Given the description of an element on the screen output the (x, y) to click on. 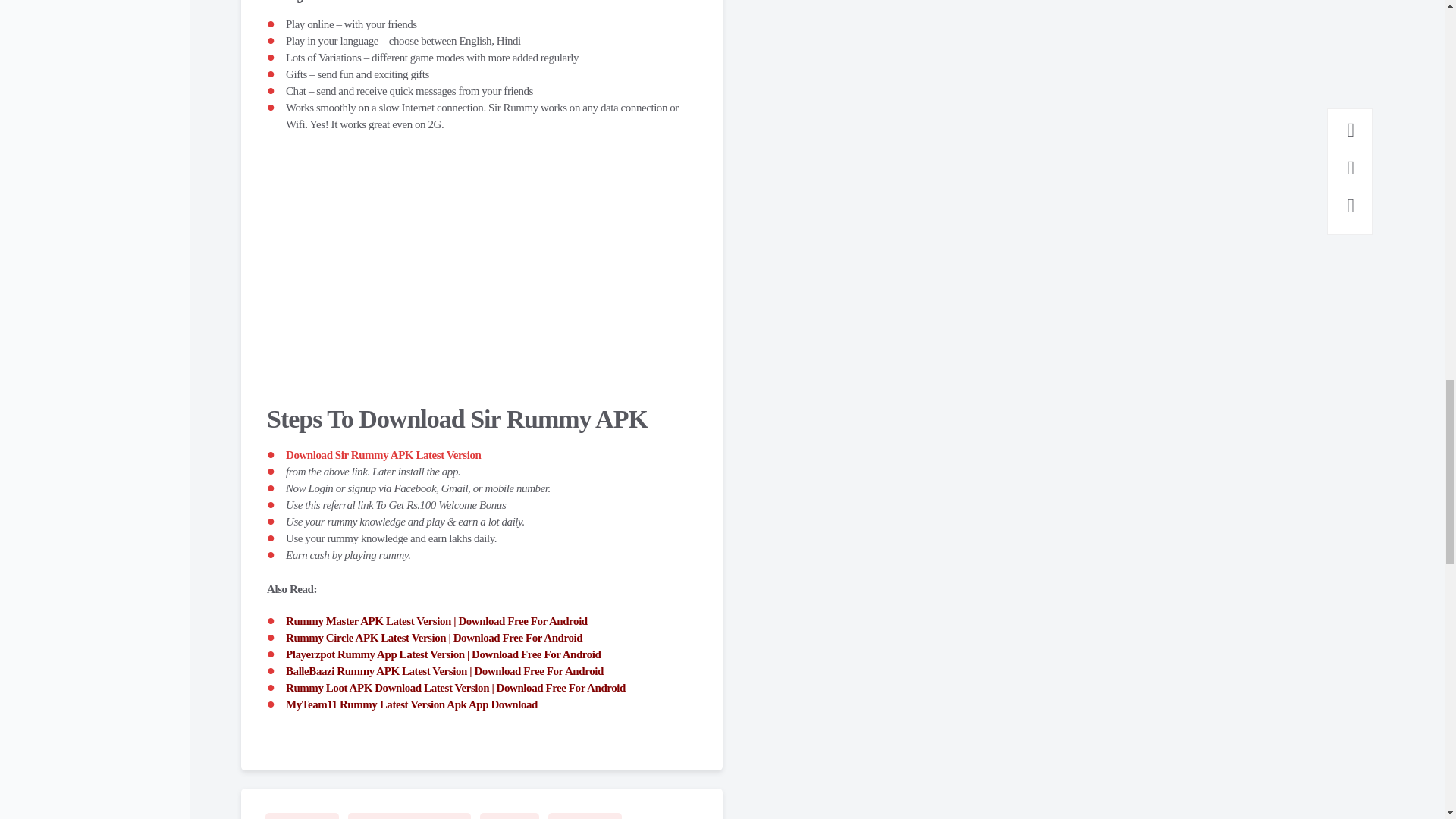
MyTeam11 Rummy Latest Version Apk App Download (411, 704)
